Given the description of an element on the screen output the (x, y) to click on. 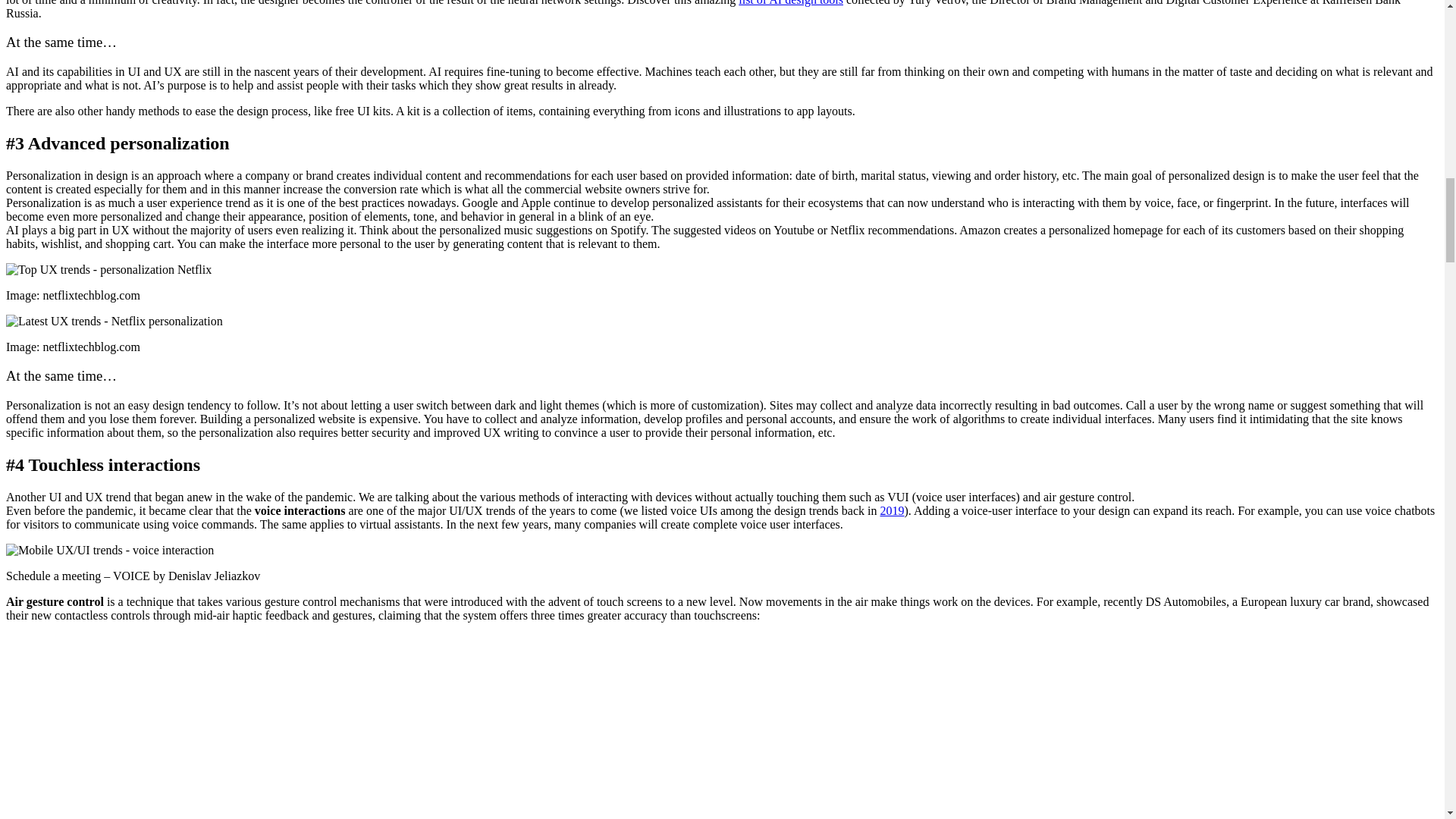
2019 (891, 510)
list of AI design tools (790, 2)
